Given the description of an element on the screen output the (x, y) to click on. 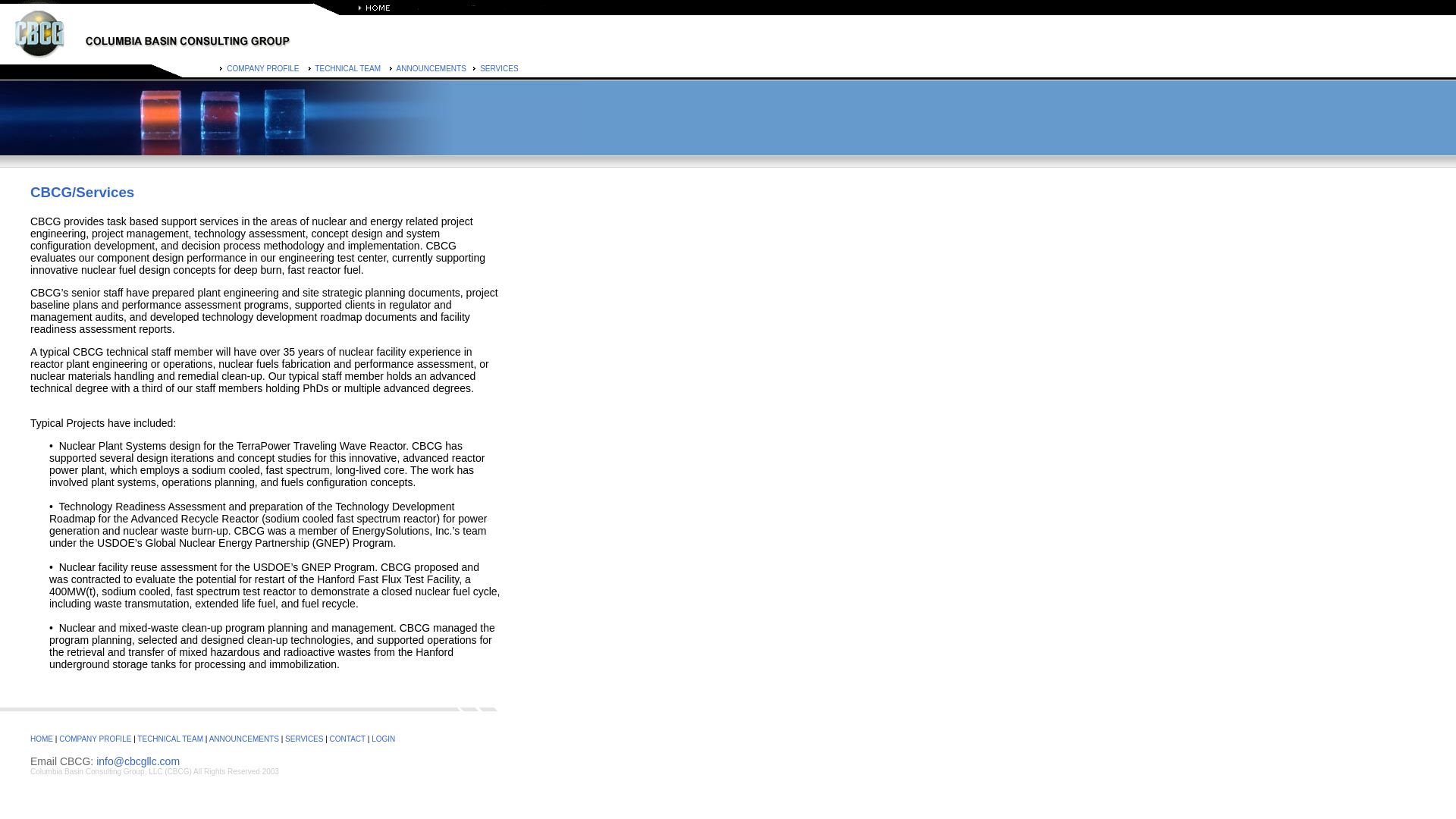
CONTACT (347, 738)
LOGIN (382, 738)
ANNOUNCEMENTS (429, 68)
TECHNICAL TEAM (169, 738)
SERVICES (304, 738)
COMPANY PROFILE (261, 68)
COMPANY PROFILE (93, 738)
ANNOUNCEMENTS (242, 738)
SERVICES (497, 68)
TECHNICAL TEAM (346, 68)
